Given the description of an element on the screen output the (x, y) to click on. 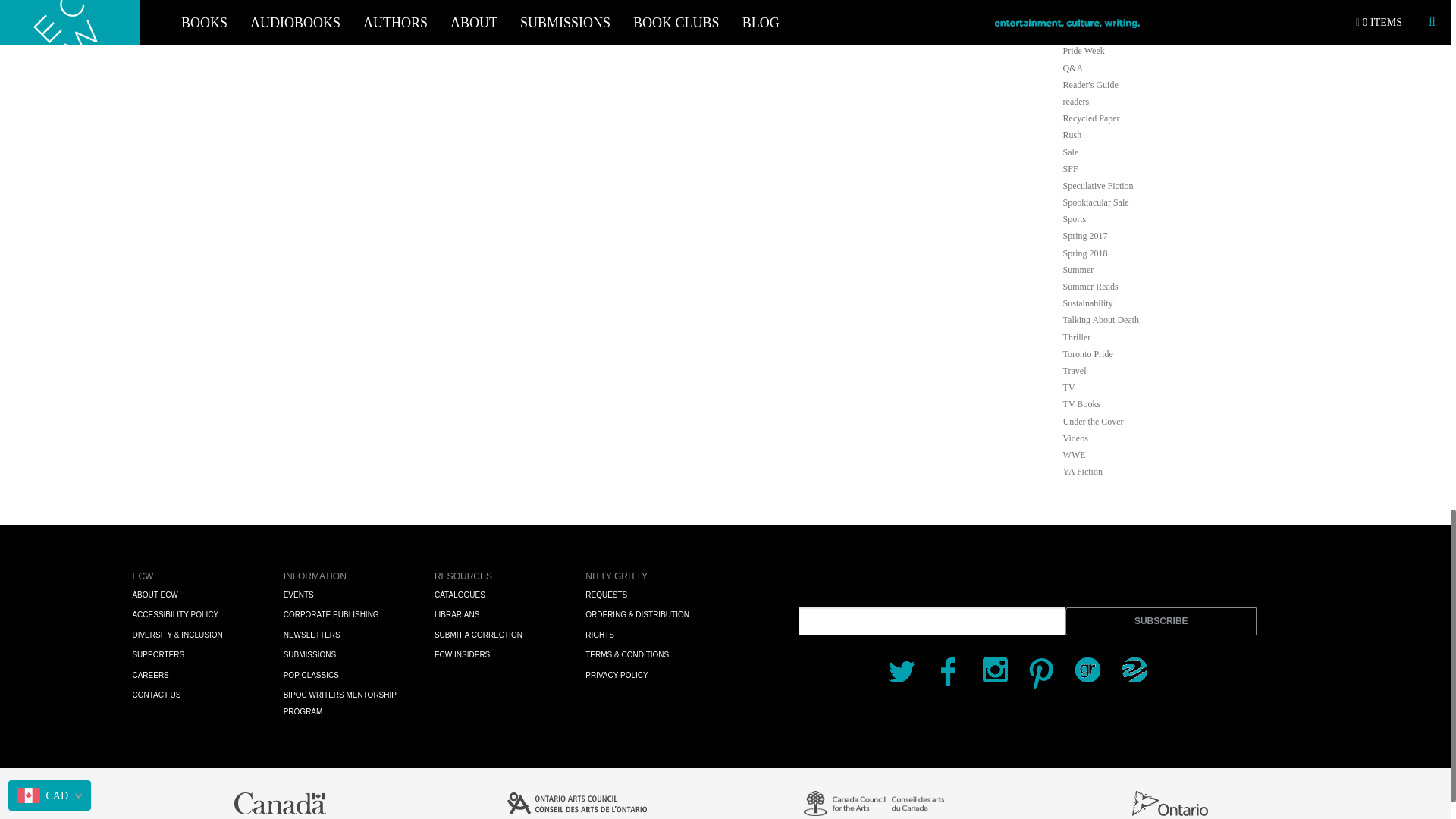
Subscribe (1160, 621)
